Given the description of an element on the screen output the (x, y) to click on. 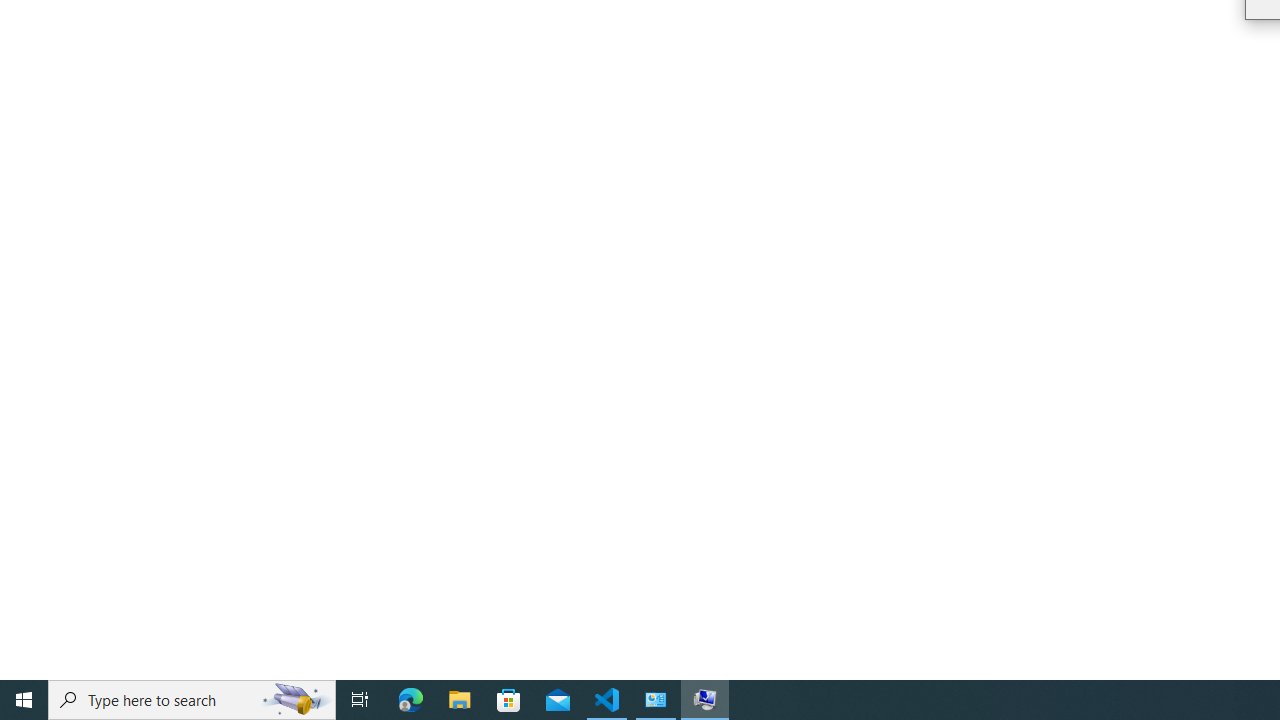
Microsoft Store (509, 699)
Start (24, 699)
System Remote Settings - 1 running window (704, 699)
Task View (359, 699)
Visual Studio Code - 1 running window (607, 699)
Control Panel - 1 running window (656, 699)
Search highlights icon opens search home window (295, 699)
Type here to search (191, 699)
Microsoft Edge (411, 699)
File Explorer (460, 699)
